Given the description of an element on the screen output the (x, y) to click on. 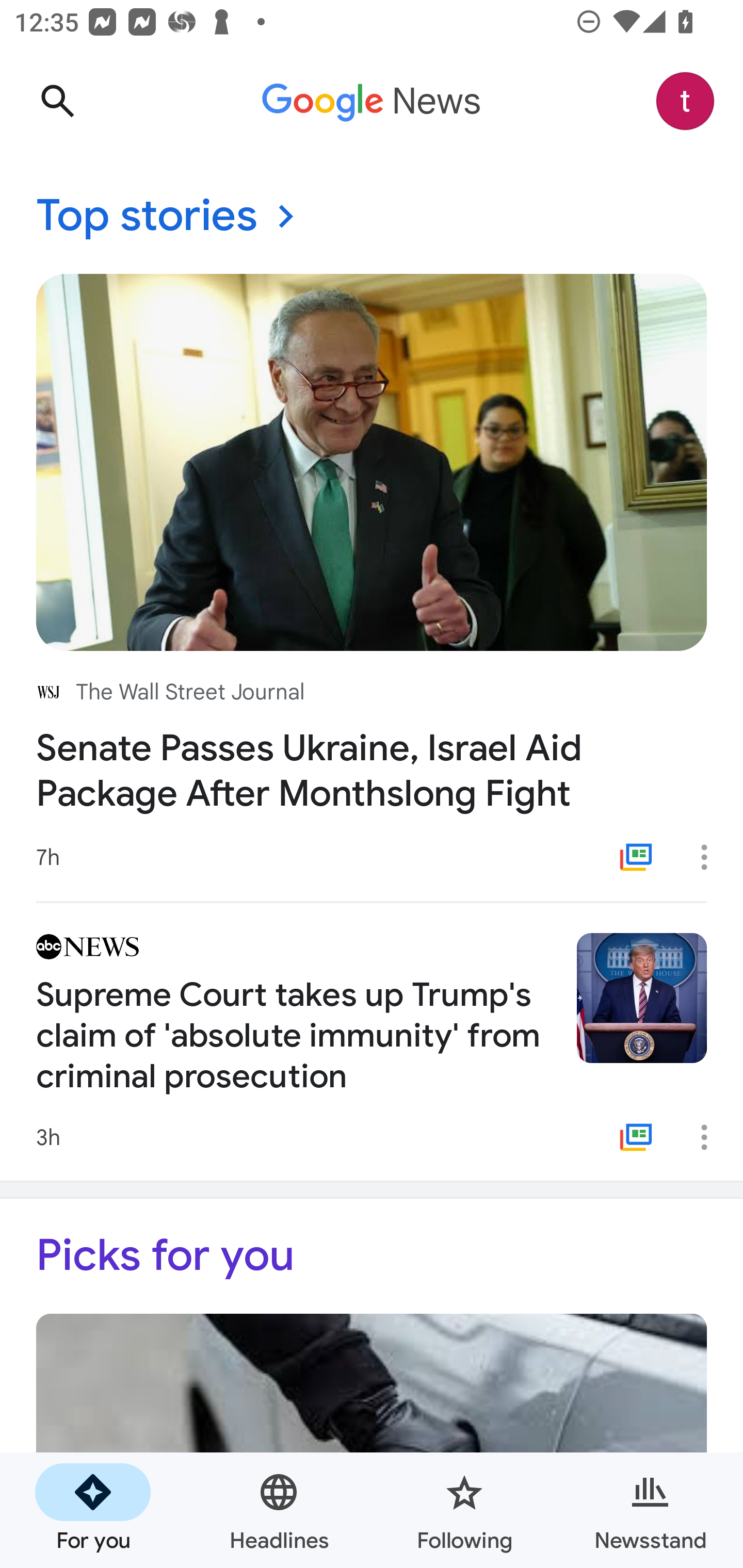
Search (57, 100)
Top stories (371, 216)
More options (711, 856)
More options (711, 1137)
For you (92, 1509)
Headlines (278, 1509)
Following (464, 1509)
Newsstand (650, 1509)
